Given the description of an element on the screen output the (x, y) to click on. 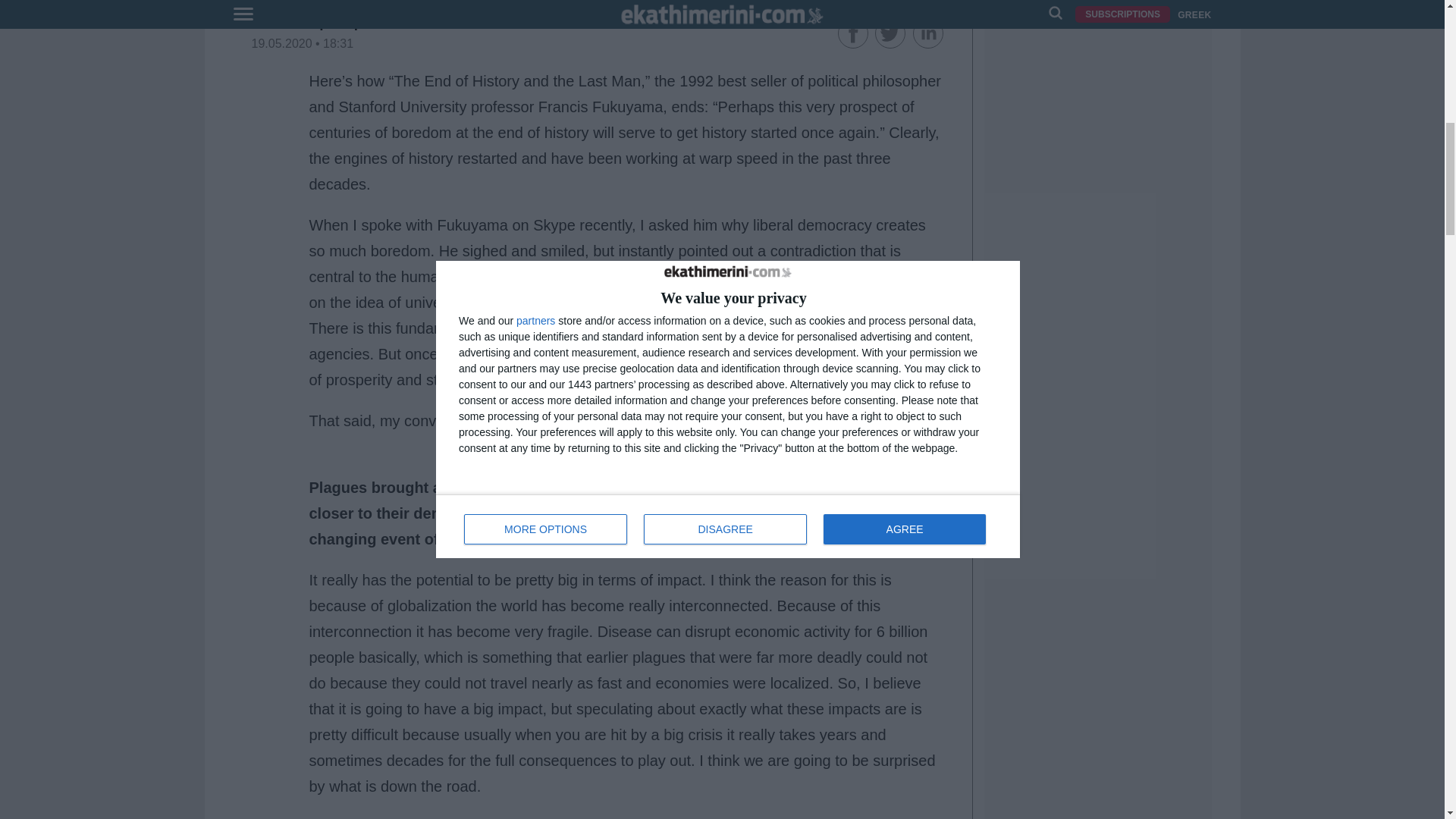
View all posts by Pavlos Papadopoulos (326, 22)
